Given the description of an element on the screen output the (x, y) to click on. 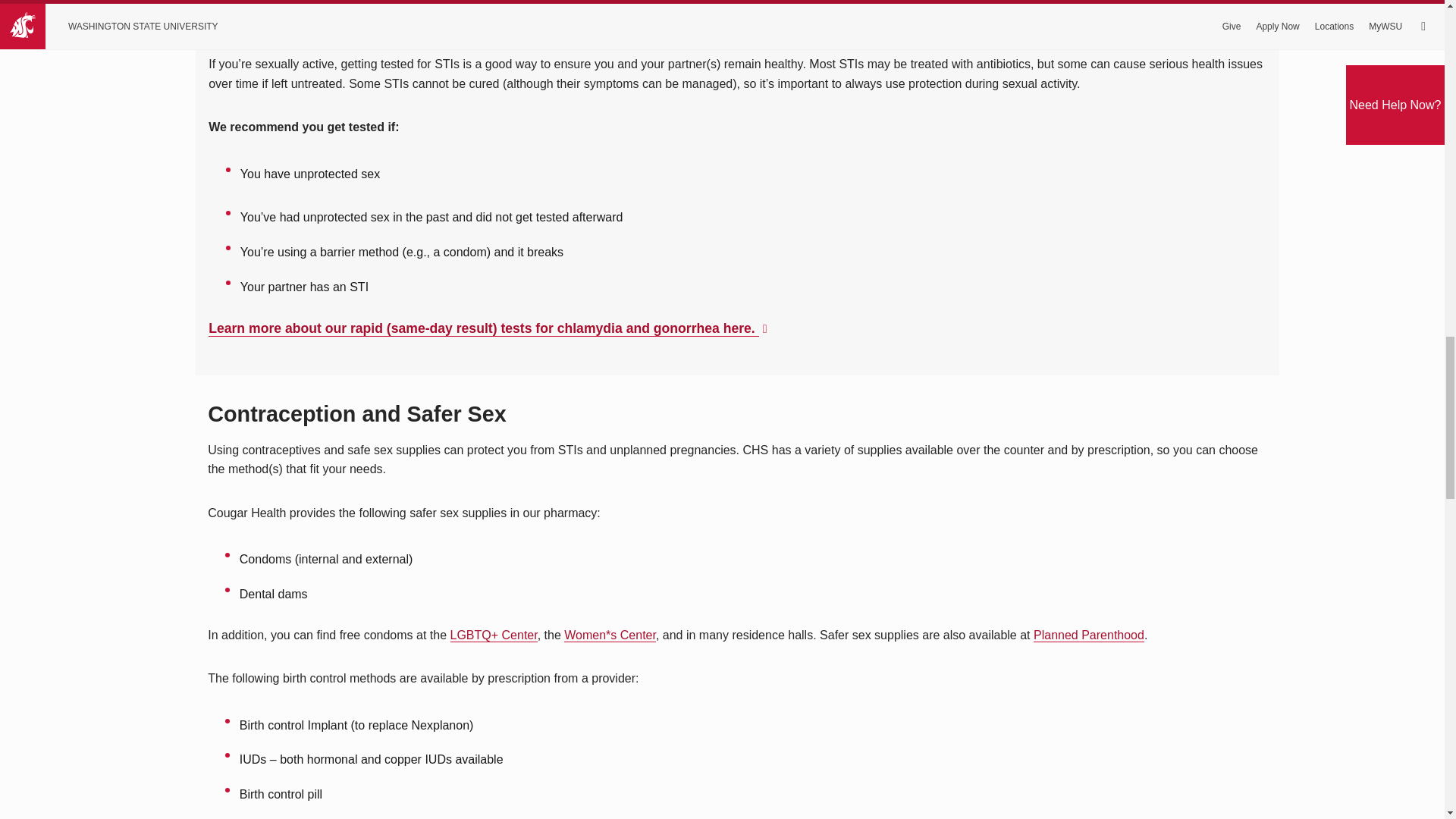
STI Clinics (483, 328)
